Given the description of an element on the screen output the (x, y) to click on. 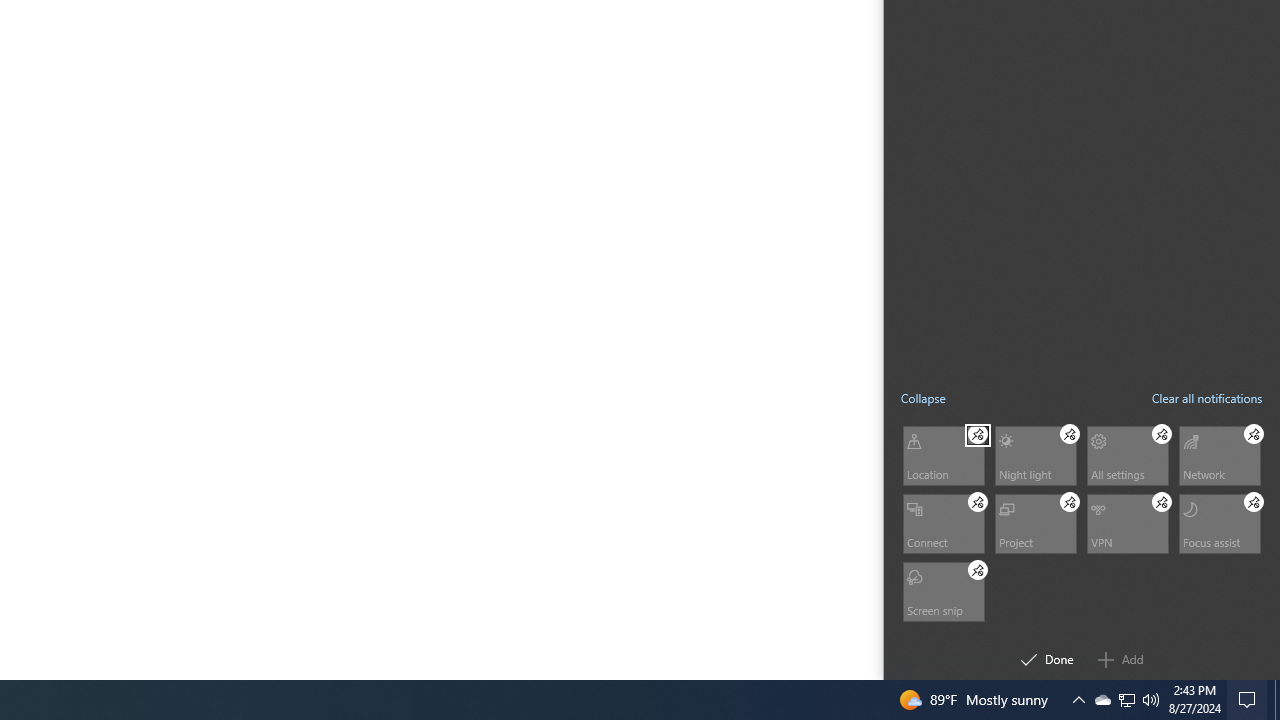
Project Unpin (1069, 501)
Collapse quick actions (923, 398)
Screen snip Unpin (977, 570)
Night light (1102, 699)
Location Unpin (1034, 454)
Show desktop (977, 434)
All settings Unpin (1277, 699)
VPN (1162, 434)
Screen snip (1126, 522)
Add quick actions (942, 590)
Network Unpin (1120, 659)
Notification Chevron (1254, 434)
